Given the description of an element on the screen output the (x, y) to click on. 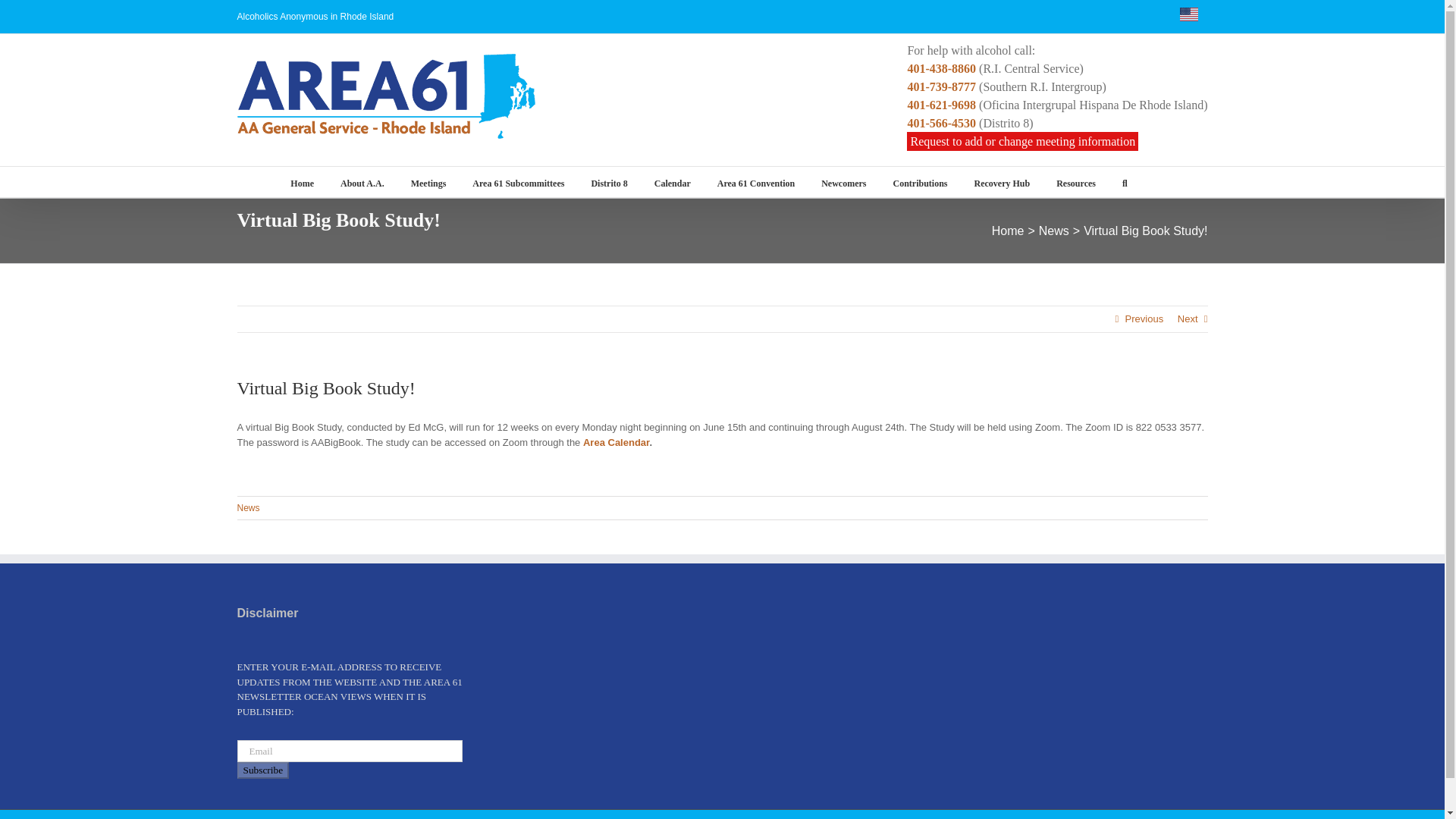
About A.A. (362, 182)
401-566-4530 (941, 123)
401-438-8860 (941, 68)
401-621-9698 (941, 104)
401-739-8777 (941, 86)
Request to add or change meeting information (1022, 140)
Meetings (428, 182)
Subscribe (261, 770)
Area 61 Subcommittees (517, 182)
